Given the description of an element on the screen output the (x, y) to click on. 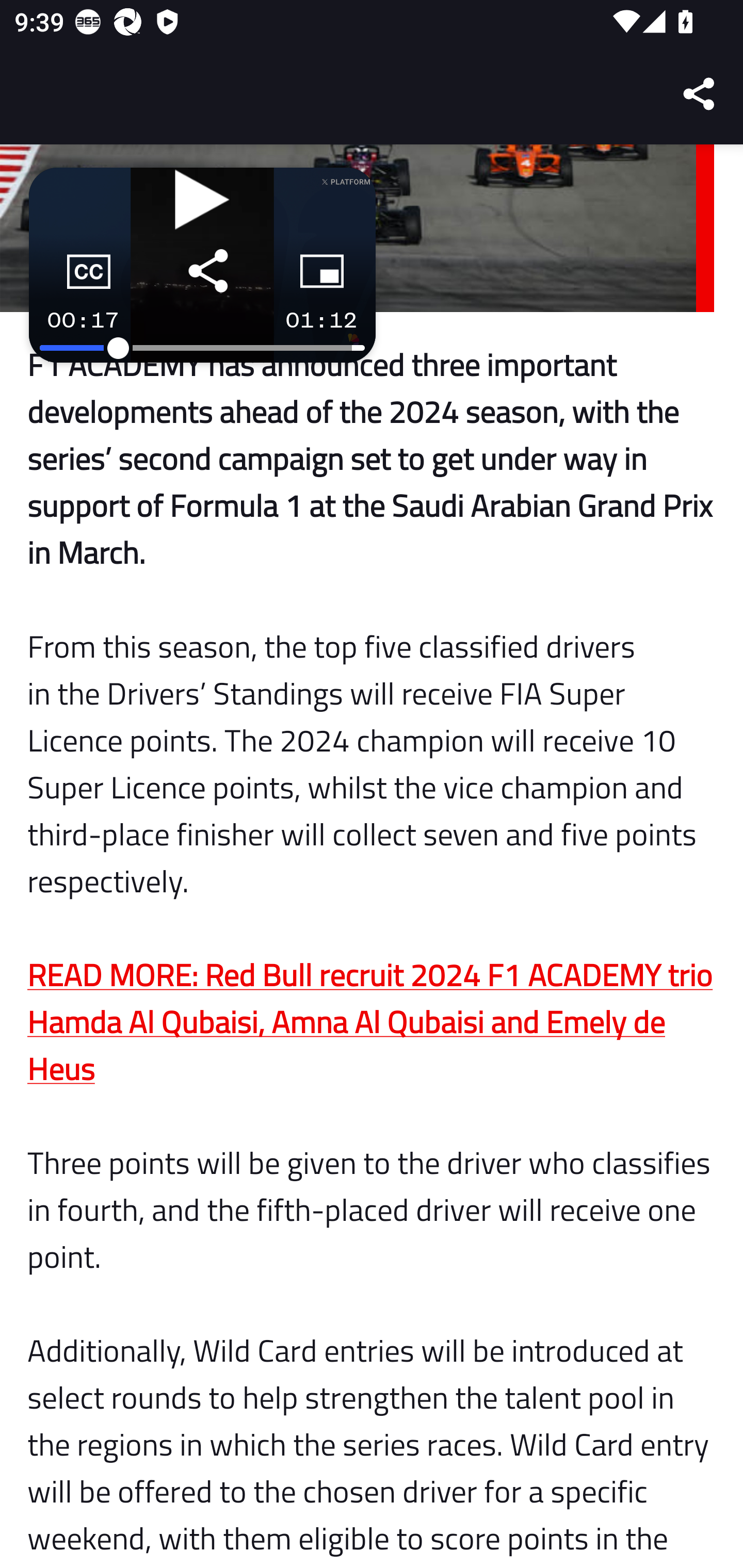
Share (699, 93)
